Given the description of an element on the screen output the (x, y) to click on. 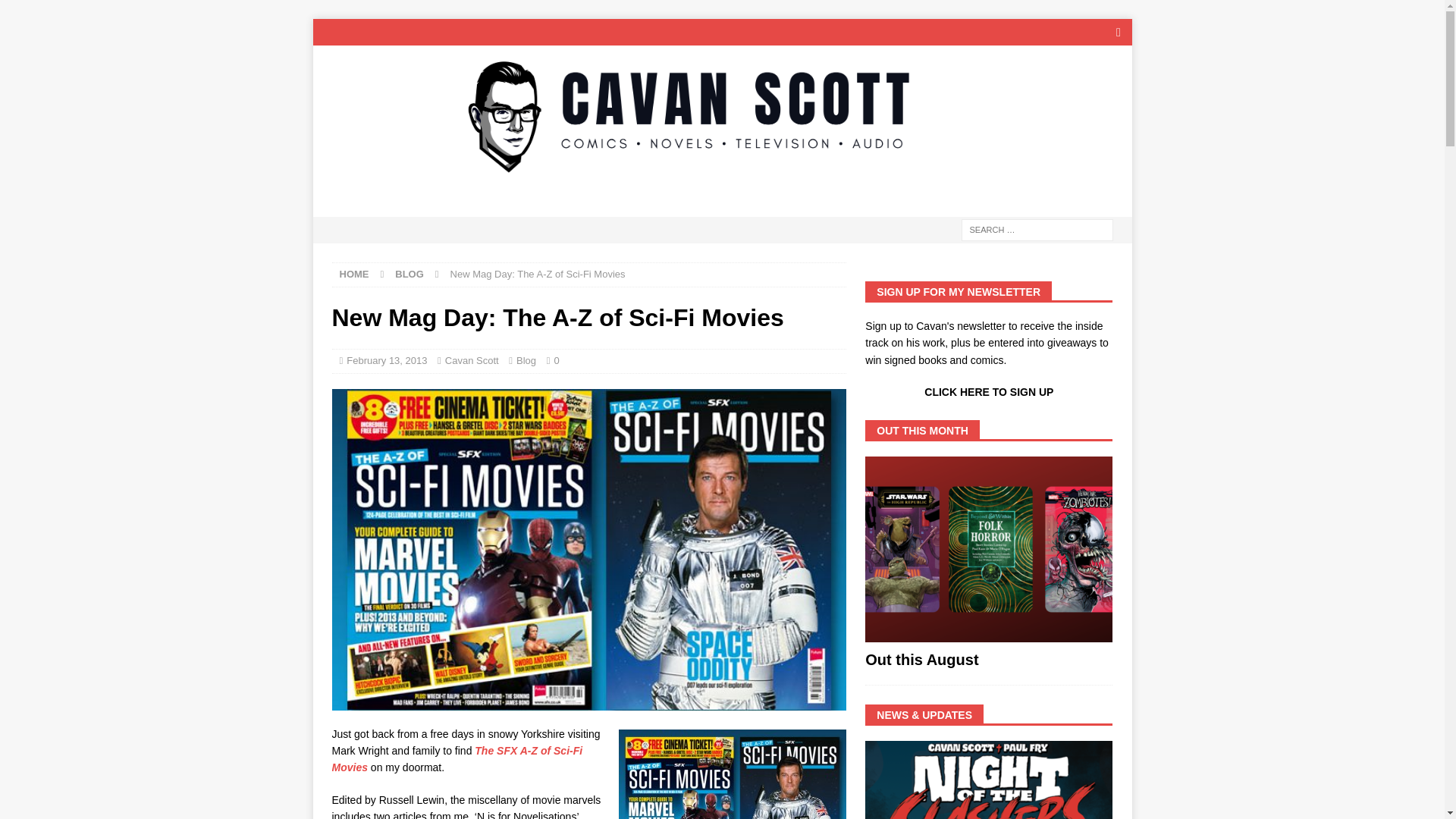
Cavan Scott (472, 360)
HOME (354, 274)
Blog (525, 360)
WORKS (579, 201)
Out this August (988, 549)
NEW RELEASES (672, 201)
CONTACT (833, 201)
SHOP (761, 201)
ABOUT (346, 201)
